Given the description of an element on the screen output the (x, y) to click on. 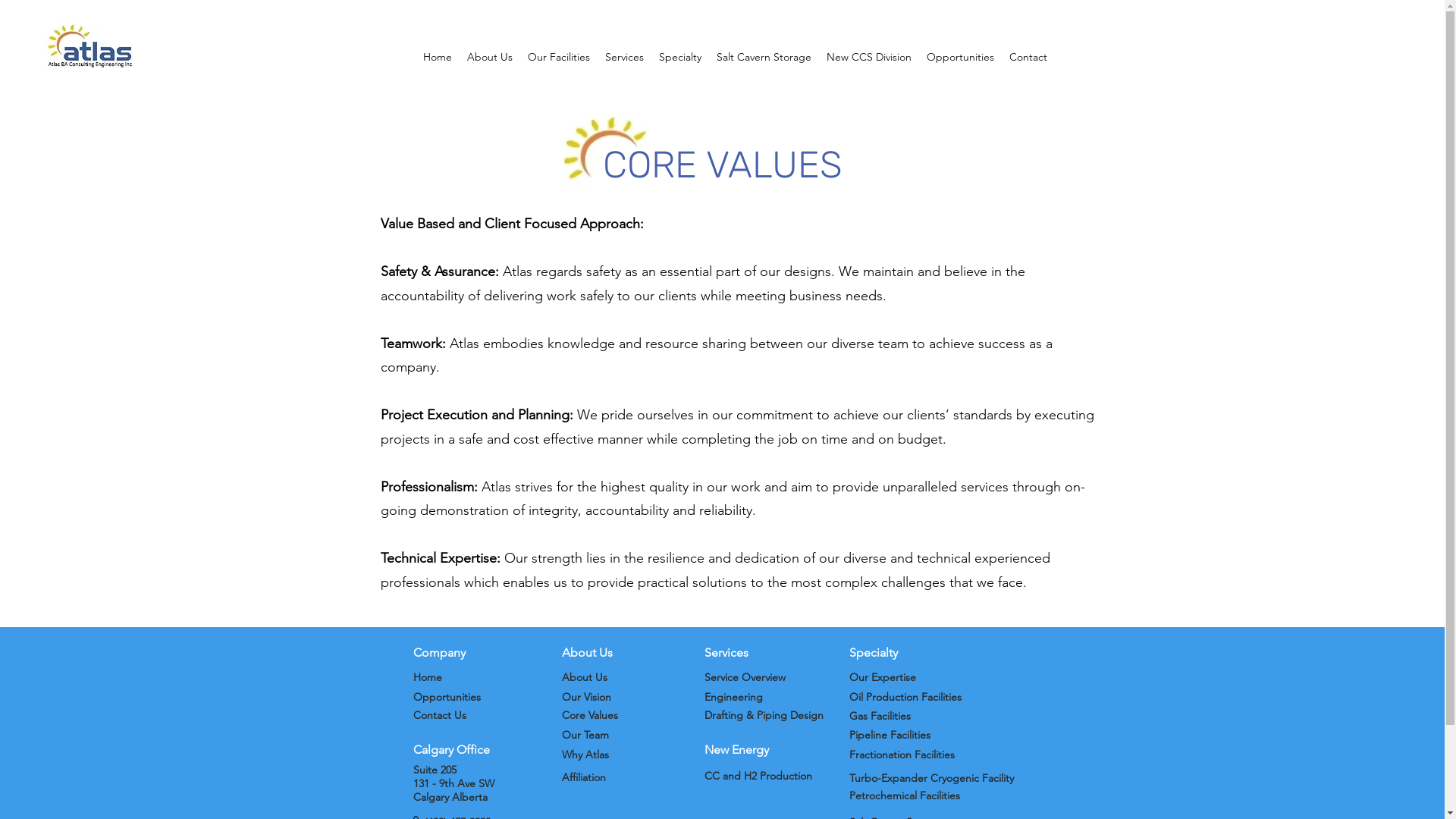
Pipeline Facilities Element type: text (889, 734)
CC and H2 Production Element type: text (757, 775)
Our Team Element type: text (584, 734)
Drafting & Piping Design  Element type: text (764, 715)
Contact Us Element type: text (438, 715)
Contact Element type: text (1027, 56)
Opportunities Element type: text (960, 56)
Affiliation Element type: text (583, 777)
Why Atlas Element type: text (584, 754)
Engineering Element type: text (732, 696)
Core Values Element type: text (589, 715)
Home Element type: text (426, 677)
Suite 205
131 - 9th Ave SW
Calgary Alberta Element type: text (452, 783)
Gas Facilities Element type: text (879, 715)
Our Vision Element type: text (585, 696)
Turbo-Expander Cryogenic Facility Element type: text (931, 777)
Fractionation Facilities Element type: text (901, 754)
About Us Element type: text (583, 677)
Home Element type: text (437, 56)
Our Facilities Element type: text (558, 56)
Opportunities Element type: text (446, 696)
Service Overview Element type: text (743, 677)
Oil Production Facilities Element type: text (905, 696)
Our Expertise Element type: text (882, 677)
Petrochemical Facilities Element type: text (904, 795)
